Given the description of an element on the screen output the (x, y) to click on. 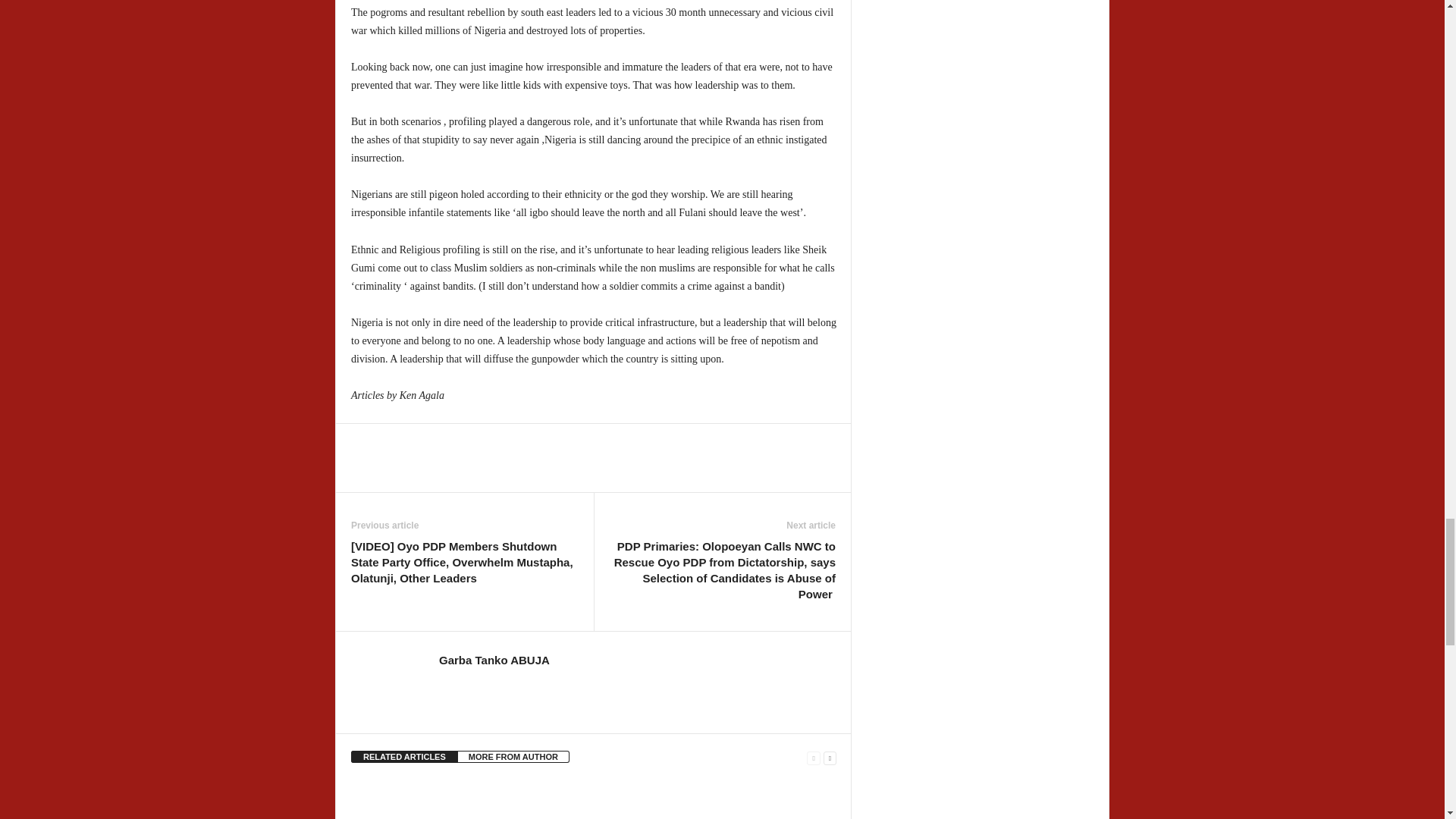
bottomFacebookLike (390, 439)
